Given the description of an element on the screen output the (x, y) to click on. 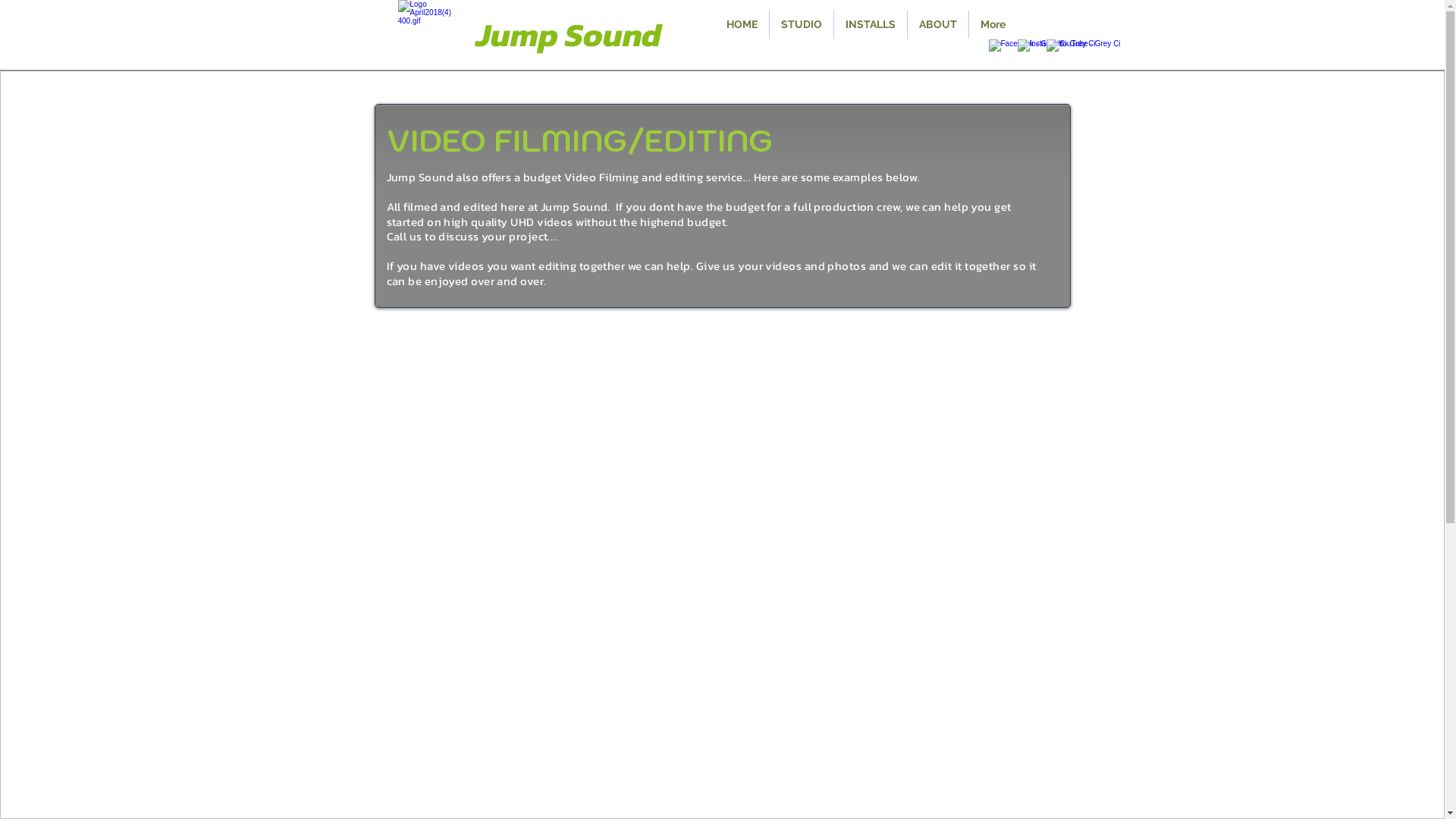
HOME Element type: text (741, 24)
ABOUT Element type: text (937, 24)
INSTALLS Element type: text (870, 24)
STUDIO Element type: text (801, 24)
